Given the description of an element on the screen output the (x, y) to click on. 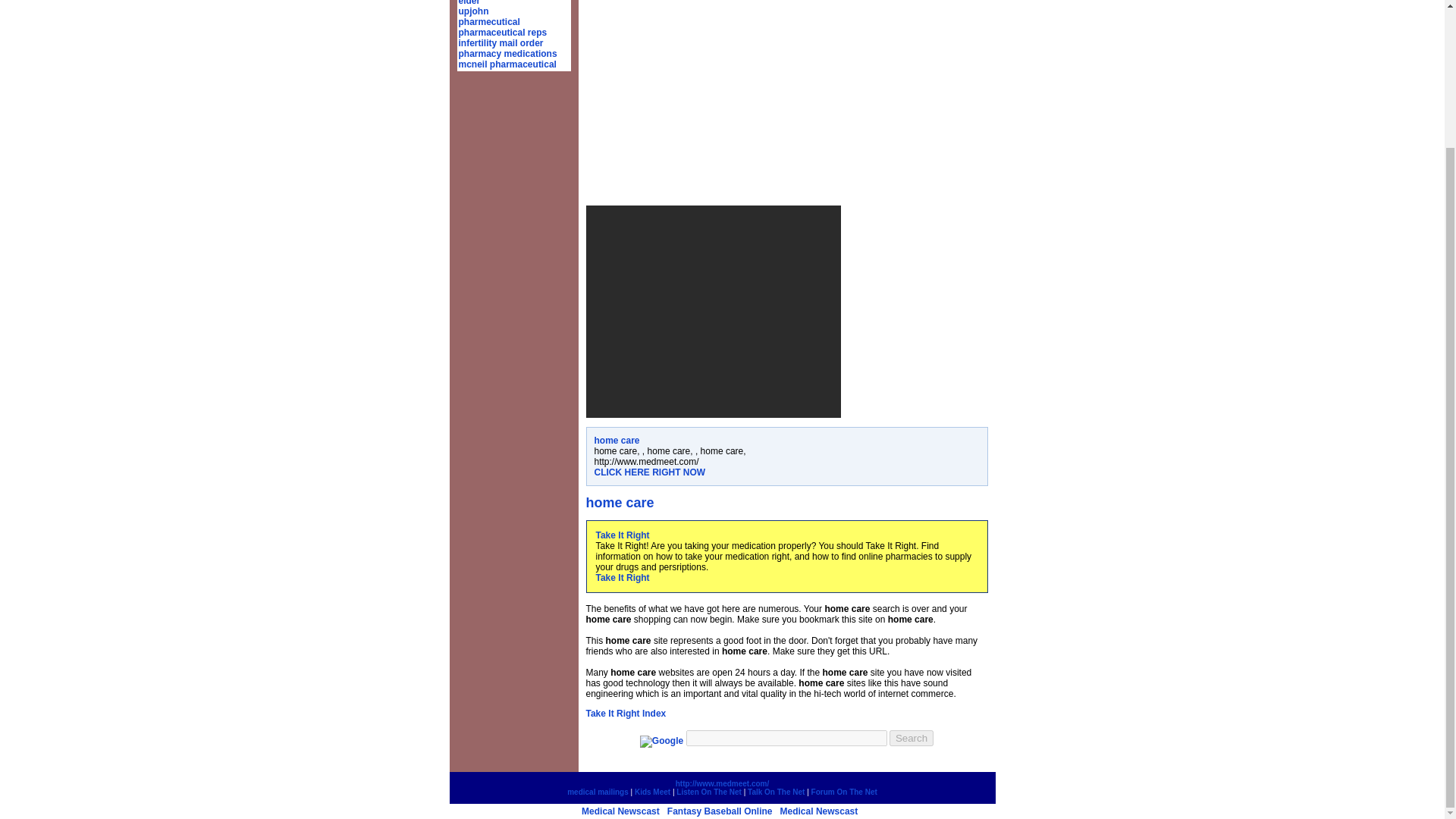
pharmaceutical reps (502, 32)
Medical Newscast (819, 810)
Talk On The Net (776, 791)
Take It Right Index (625, 713)
Listen On The Net (709, 791)
Fantasy Baseball Online (719, 810)
Kids Meet (651, 791)
home care (617, 439)
Medical Newscast (619, 810)
infertility mail order pharmacy medications (507, 47)
upjohn (472, 10)
pharmecutical (488, 21)
elder (469, 2)
CLICK HERE RIGHT NOW (650, 471)
Forum On The Net (843, 791)
